Given the description of an element on the screen output the (x, y) to click on. 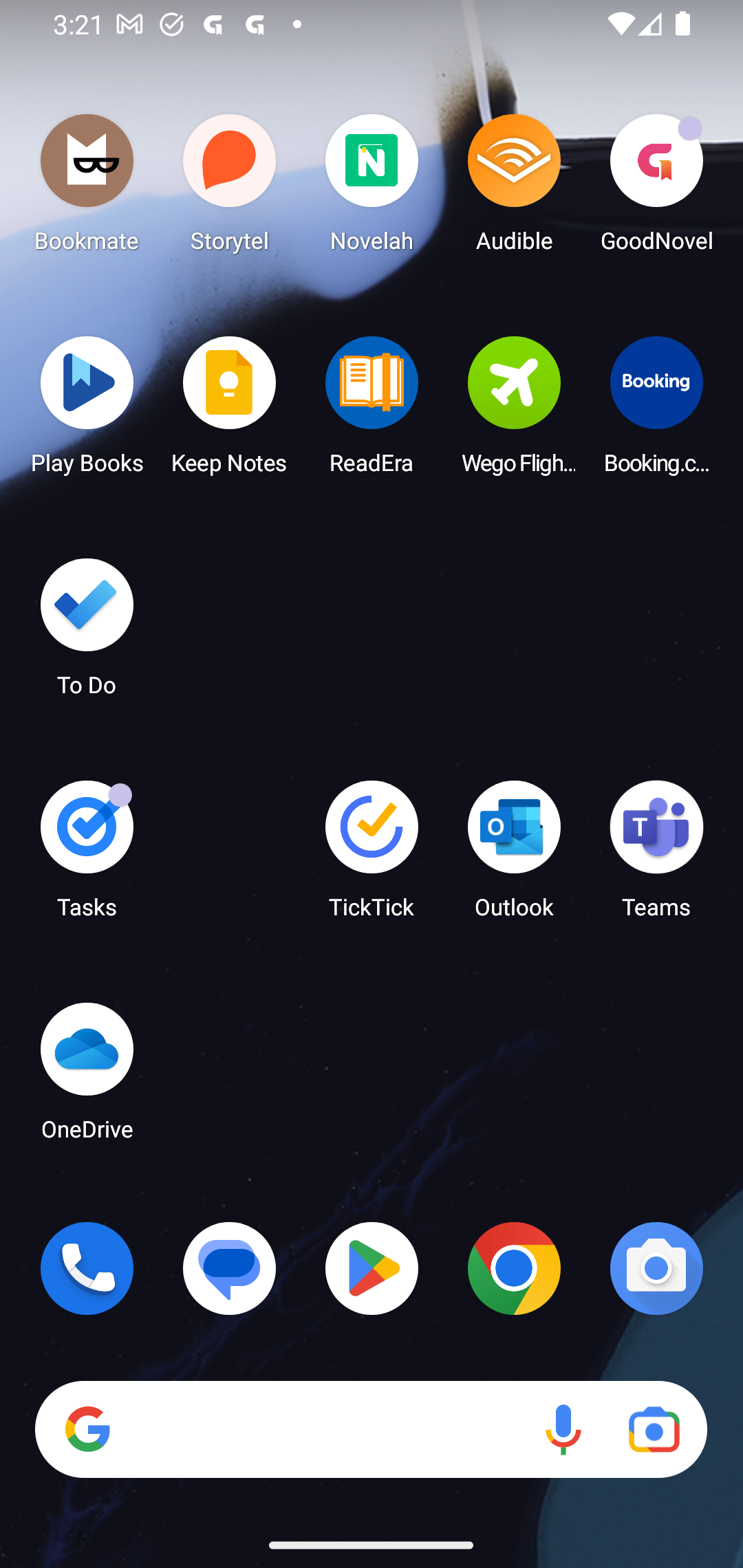
Bookmate (86, 188)
Storytel (229, 188)
Novelah (371, 188)
Audible (513, 188)
GoodNovel GoodNovel has 2 notifications (656, 188)
Play Books (86, 410)
Keep Notes (229, 410)
ReadEra (371, 410)
Wego Flights & Hotels (513, 410)
Booking.com (656, 410)
To Do (86, 633)
Tasks Tasks has 6 notifications (86, 854)
TickTick (371, 854)
Outlook (513, 854)
Teams (656, 854)
OneDrive (86, 1076)
Phone (86, 1268)
Messages (229, 1268)
Play Store (371, 1268)
Chrome (513, 1268)
Camera (656, 1268)
Search Voice search Google Lens (370, 1429)
Voice search (562, 1429)
Google Lens (653, 1429)
